Given the description of an element on the screen output the (x, y) to click on. 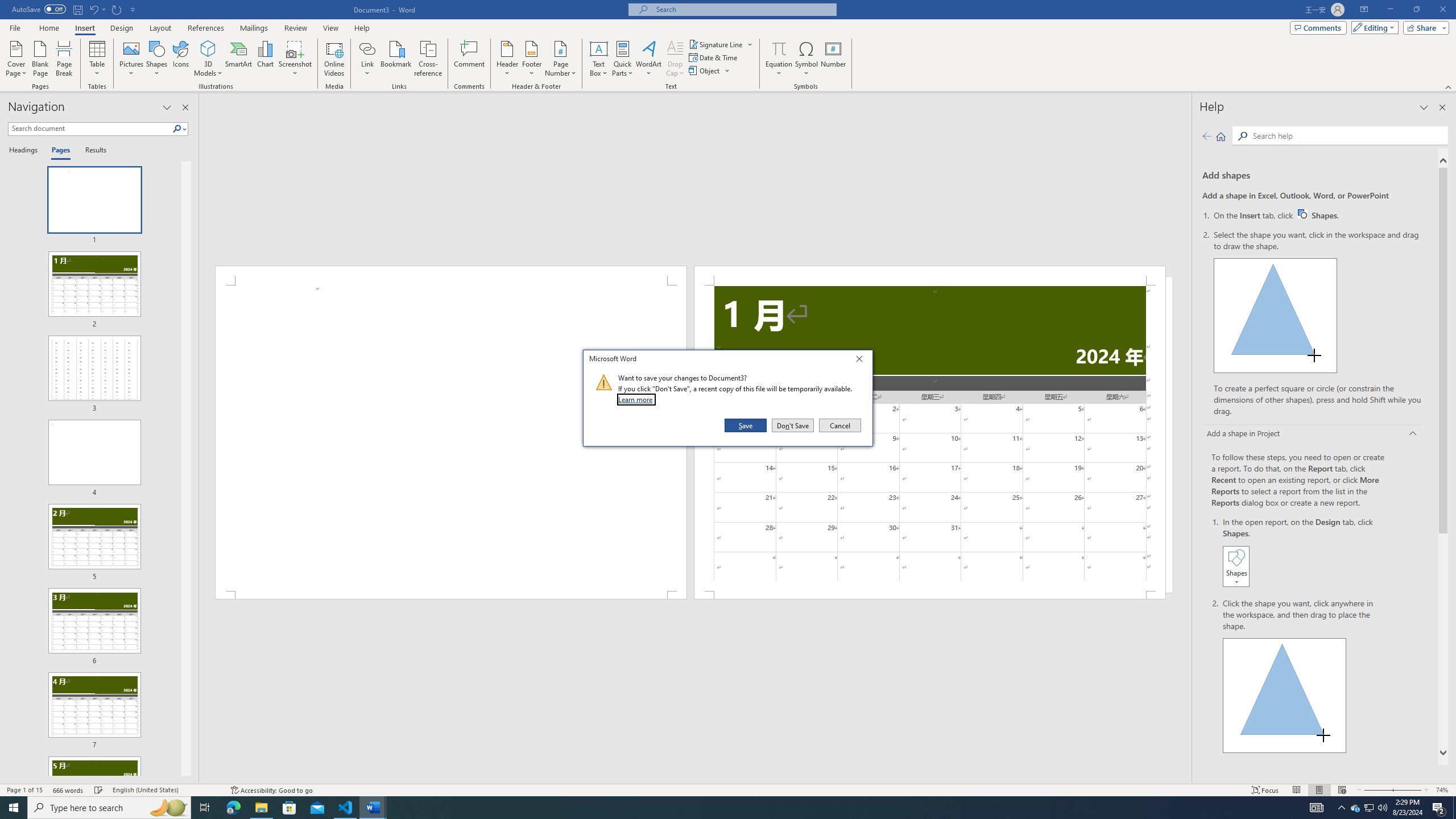
Equation (778, 58)
Pages (59, 150)
Online Videos... (1318, 214)
Comment (333, 58)
Cover Page (469, 58)
Page Number Page 1 of 15 (16, 58)
Link (24, 790)
Undo New Page (367, 58)
SmartArt... (92, 9)
